Given the description of an element on the screen output the (x, y) to click on. 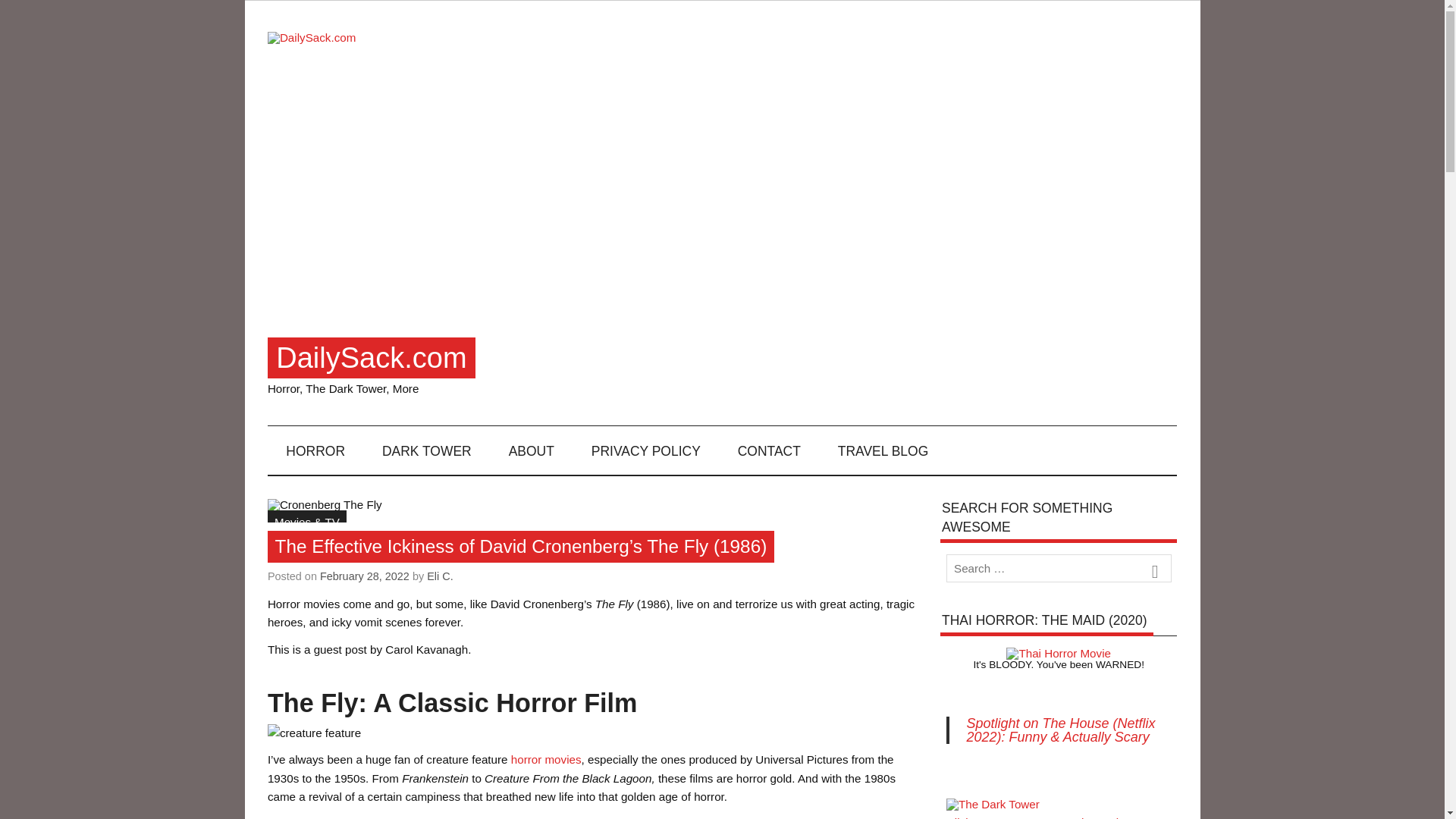
TRAVEL BLOG (882, 450)
HORROR (315, 450)
ABOUT (530, 450)
Eli C. (439, 576)
CONTACT (768, 450)
10:31 am (364, 576)
PRIVACY POLICY (645, 450)
February 28, 2022 (364, 576)
DailySack.com (370, 357)
horror movies (545, 758)
